Given the description of an element on the screen output the (x, y) to click on. 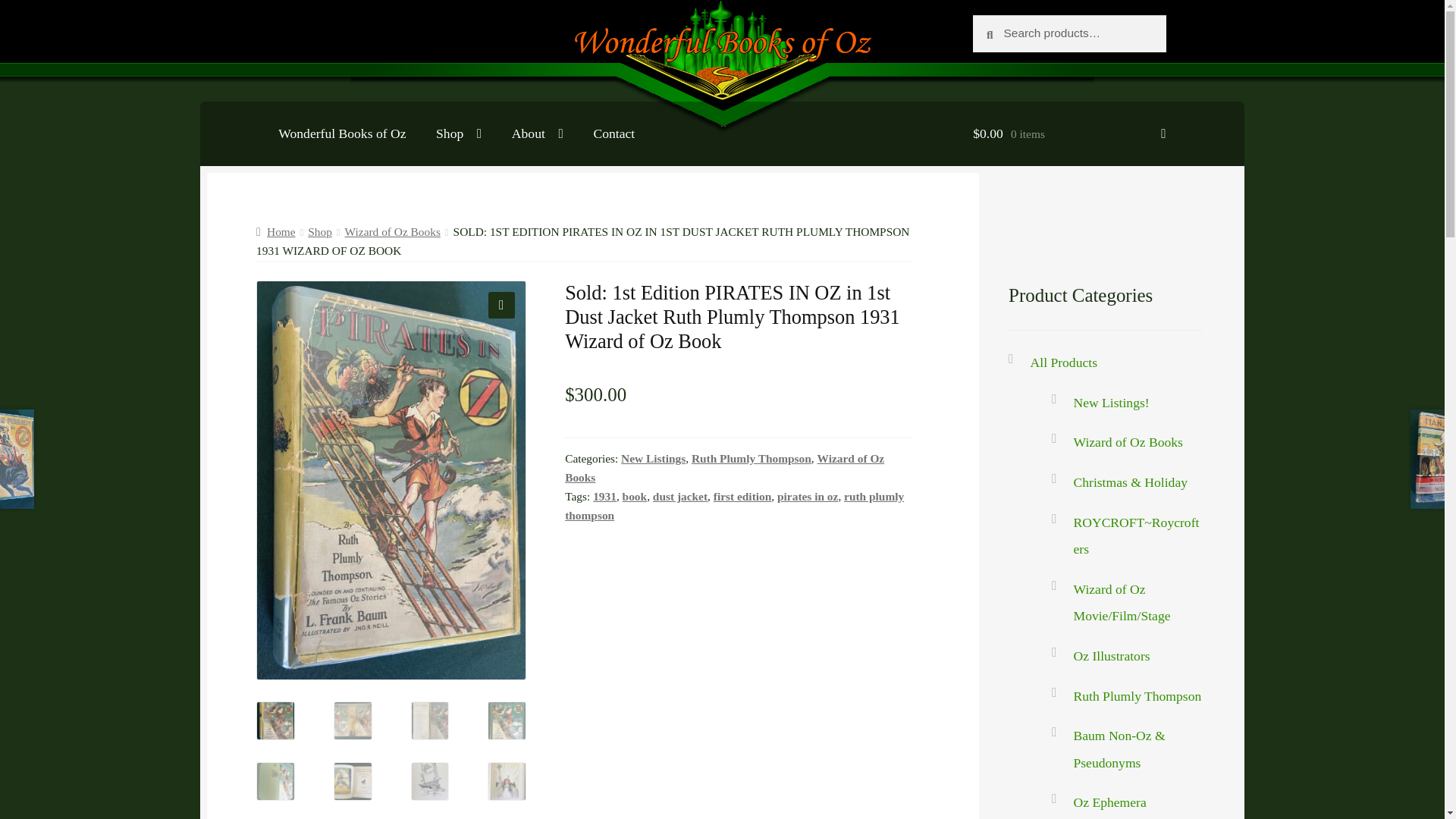
Wonderful Books of Oz (341, 133)
View your shopping cart (1069, 133)
About (536, 133)
Shop (458, 133)
Contact (613, 133)
